Given the description of an element on the screen output the (x, y) to click on. 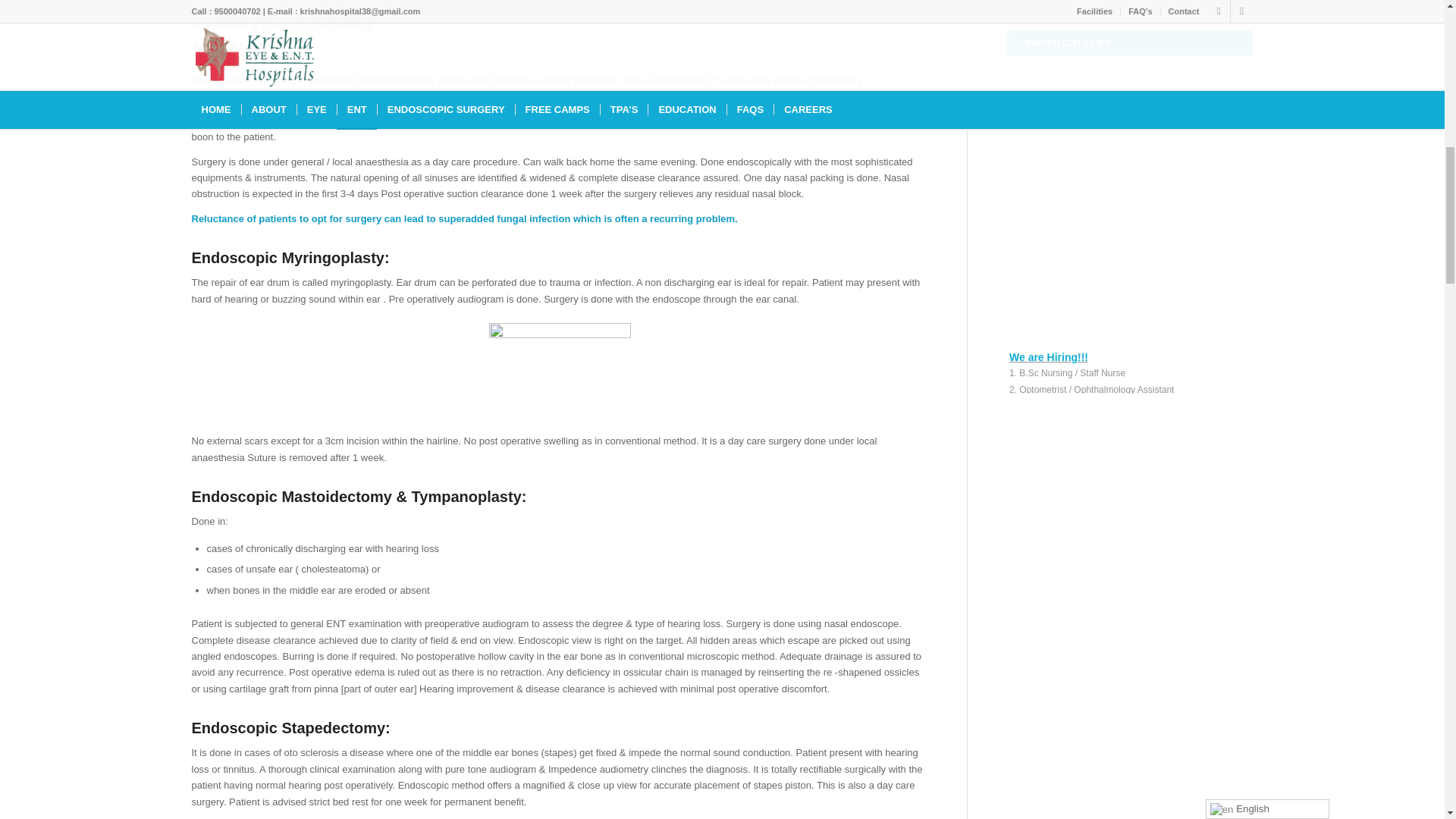
We are Hiring!!! (1129, 388)
Eligibility for registration: (1129, 444)
